Given the description of an element on the screen output the (x, y) to click on. 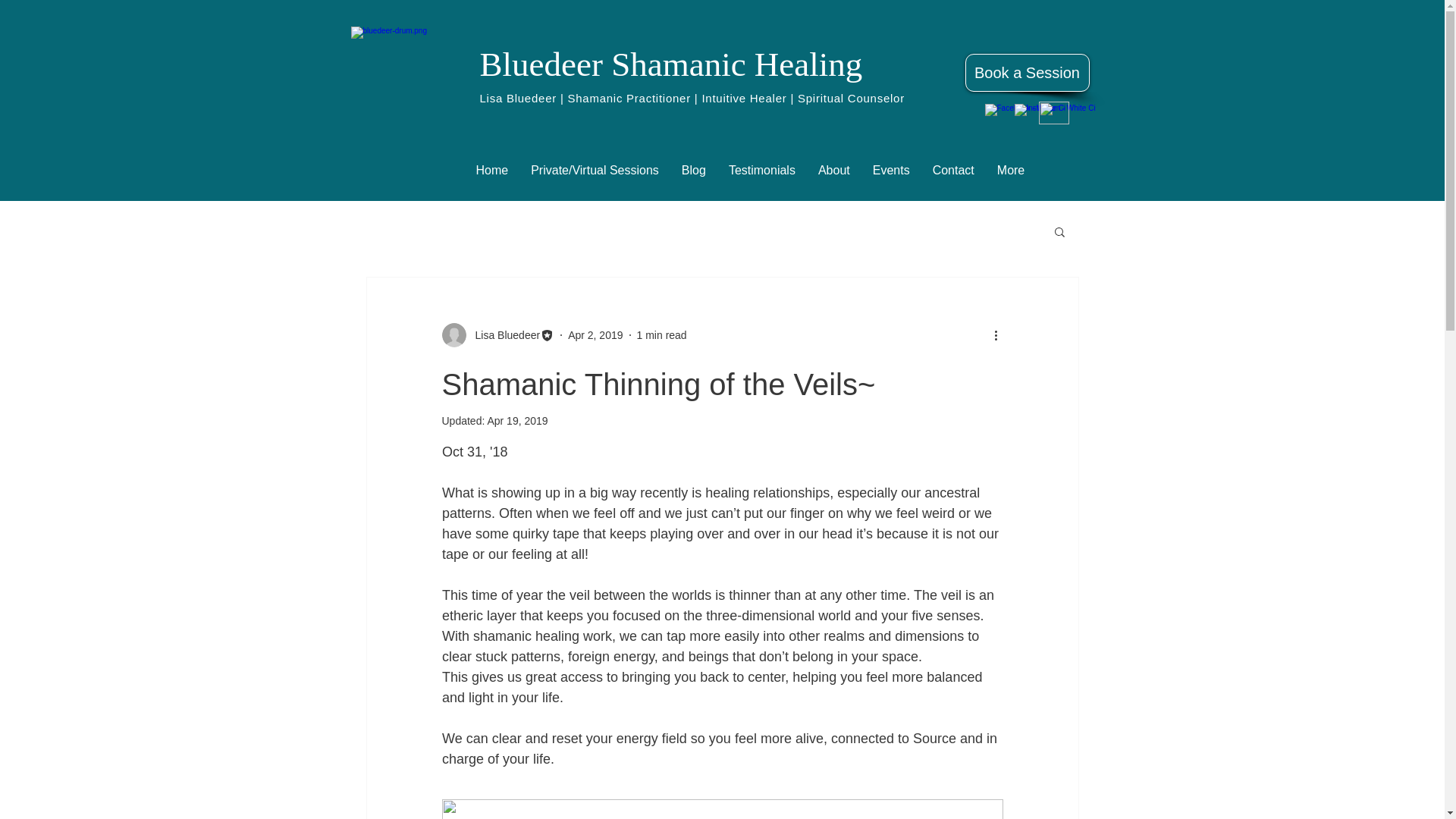
Book a Session (1026, 72)
About (833, 173)
Blog (693, 173)
Apr 2, 2019 (595, 335)
Contact (953, 173)
Home (491, 173)
1 min read (662, 335)
Testimonials (761, 173)
Apr 19, 2019 (516, 420)
Events (891, 173)
